Given the description of an element on the screen output the (x, y) to click on. 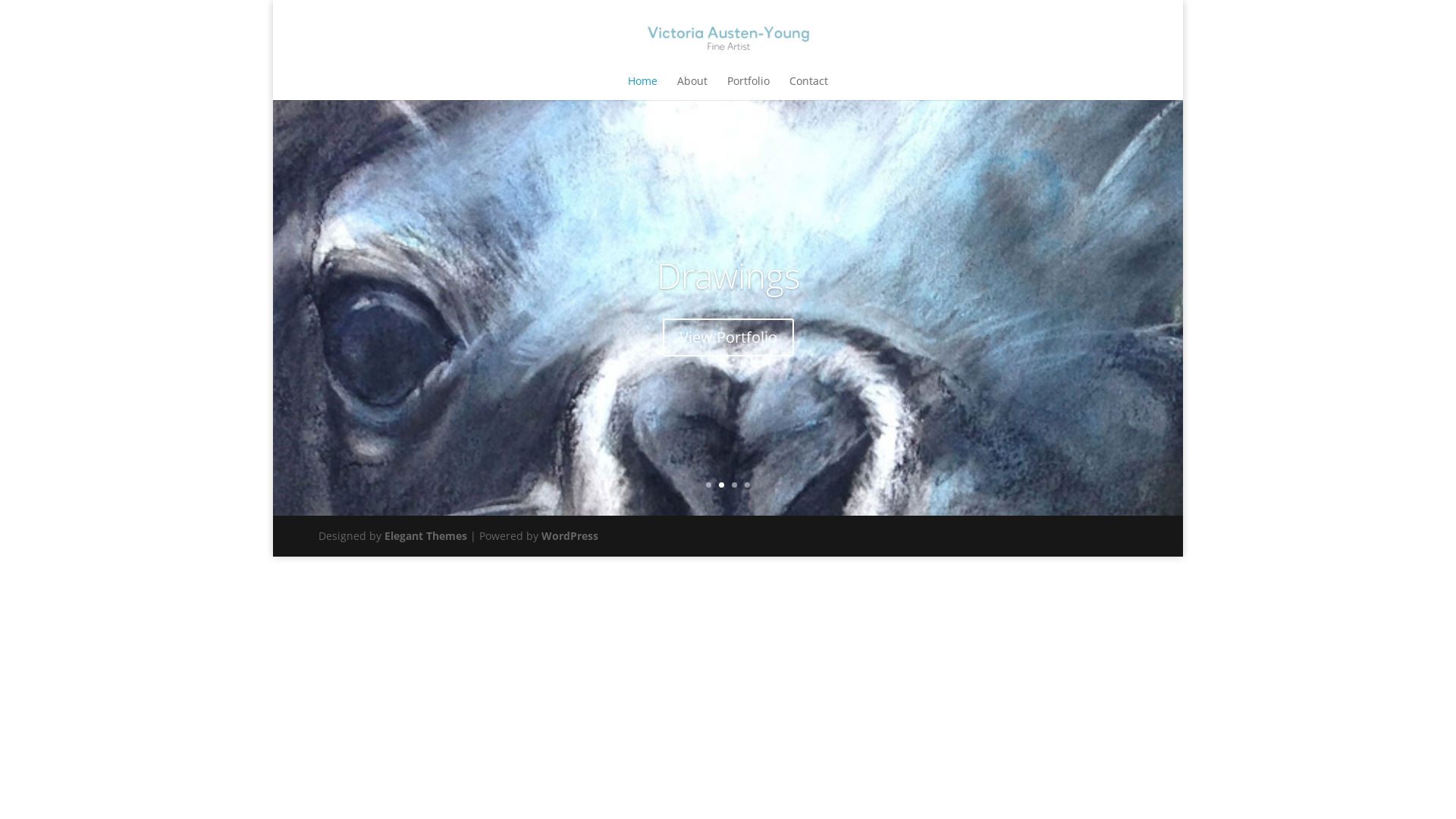
Portfolio Element type: text (748, 86)
Drawings Element type: text (728, 274)
View Portfolio Element type: text (727, 337)
4 Element type: text (746, 484)
Home Element type: text (642, 86)
3 Element type: text (734, 484)
WordPress Element type: text (569, 535)
About Element type: text (692, 86)
Elegant Themes Element type: text (425, 535)
Contact Element type: text (808, 86)
1 Element type: text (708, 484)
2 Element type: text (721, 484)
